Given the description of an element on the screen output the (x, y) to click on. 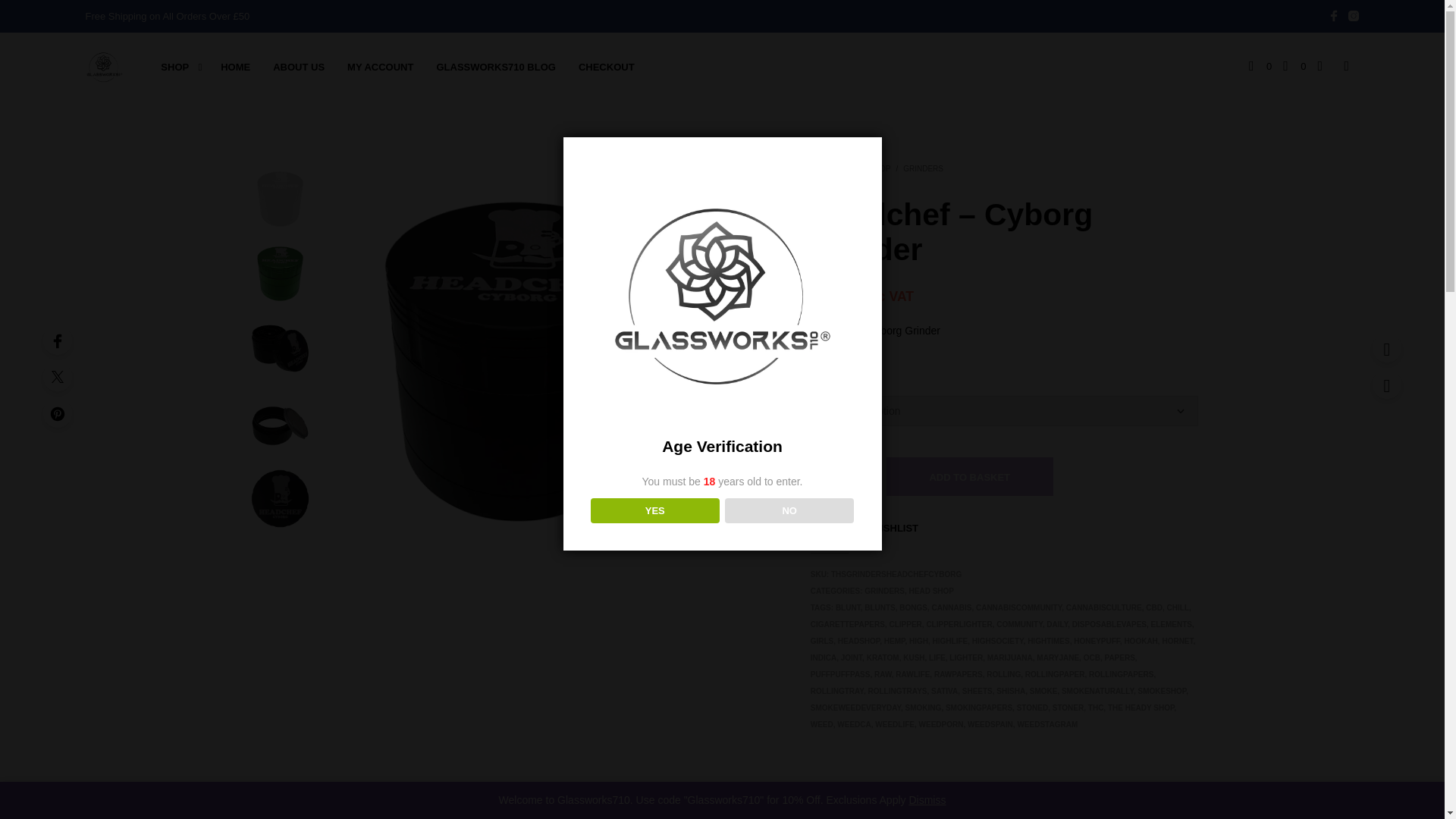
1 (839, 476)
SHOP (174, 67)
